Given the description of an element on the screen output the (x, y) to click on. 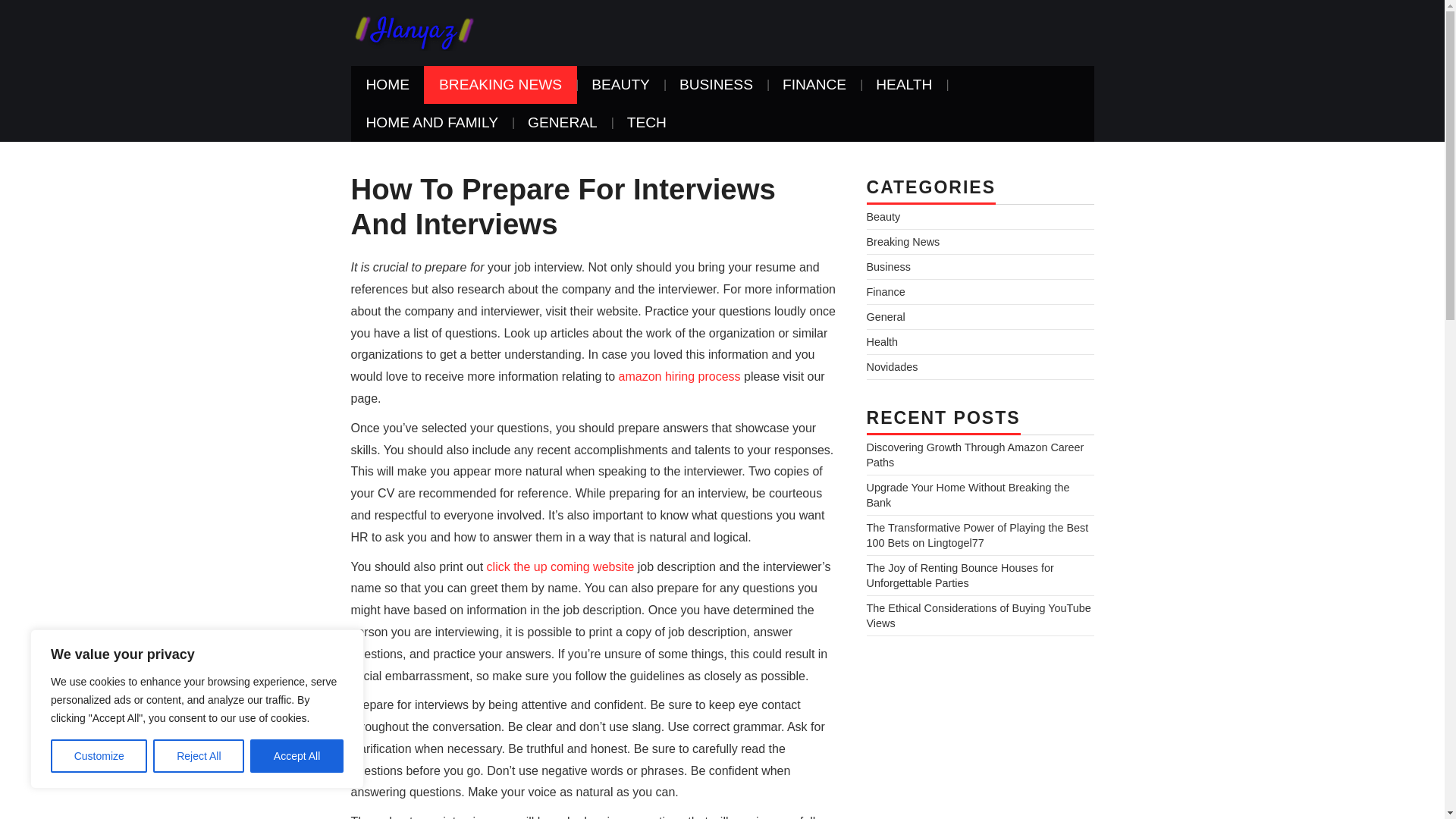
FINANCE (814, 85)
ilanyaz (413, 31)
Beauty (882, 216)
BREAKING NEWS (499, 85)
GENERAL (562, 122)
click the up coming website (560, 566)
HOME (387, 85)
amazon hiring process (679, 376)
Business (888, 266)
BUSINESS (715, 85)
